Given the description of an element on the screen output the (x, y) to click on. 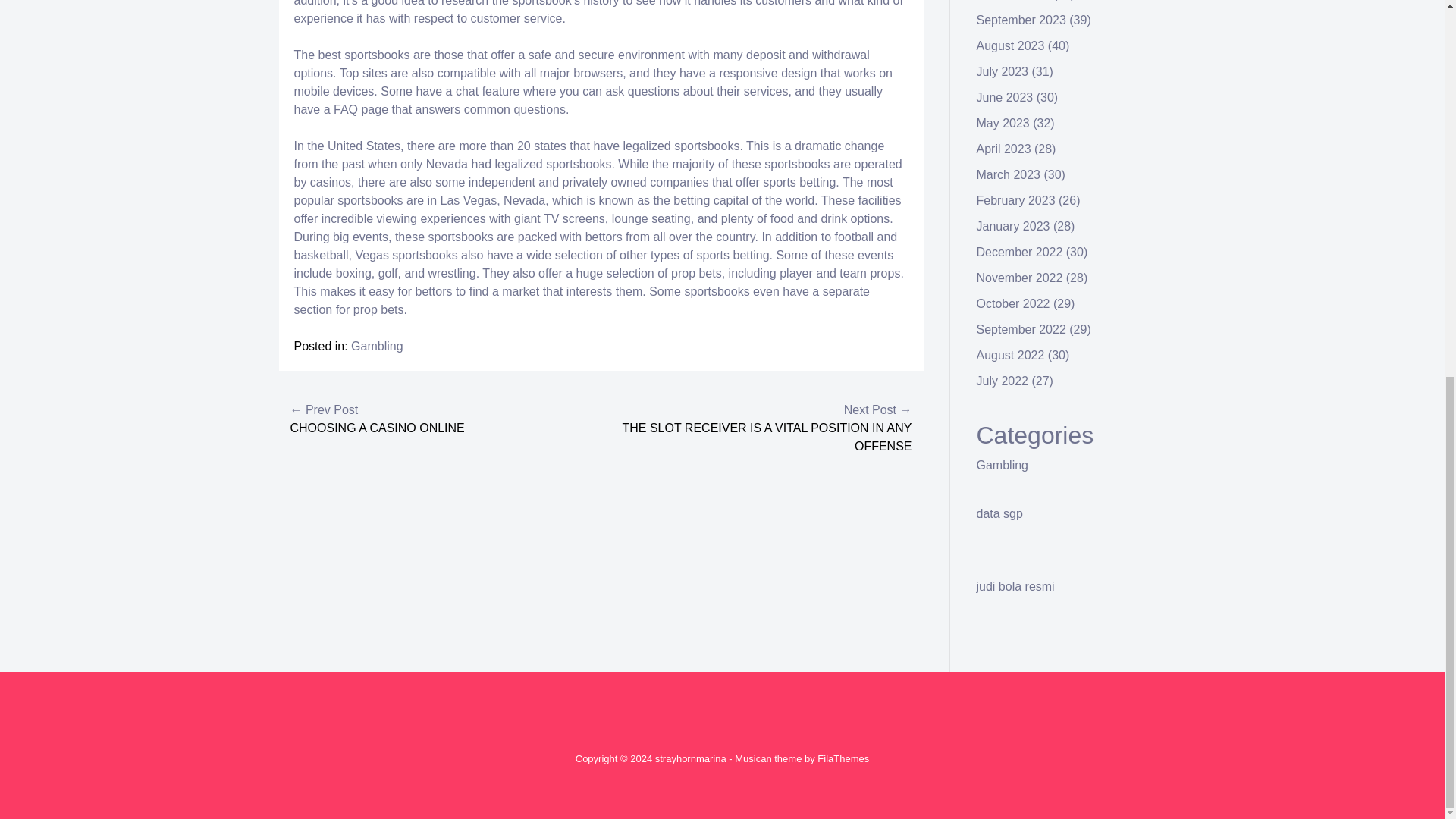
Gambling (1001, 464)
August 2023 (1010, 45)
August 2022 (1010, 354)
September 2022 (1020, 328)
July 2022 (1002, 380)
November 2022 (1019, 277)
October 2023 (1012, 0)
June 2023 (1004, 97)
September 2023 (1020, 19)
May 2023 (1002, 123)
